Given the description of an element on the screen output the (x, y) to click on. 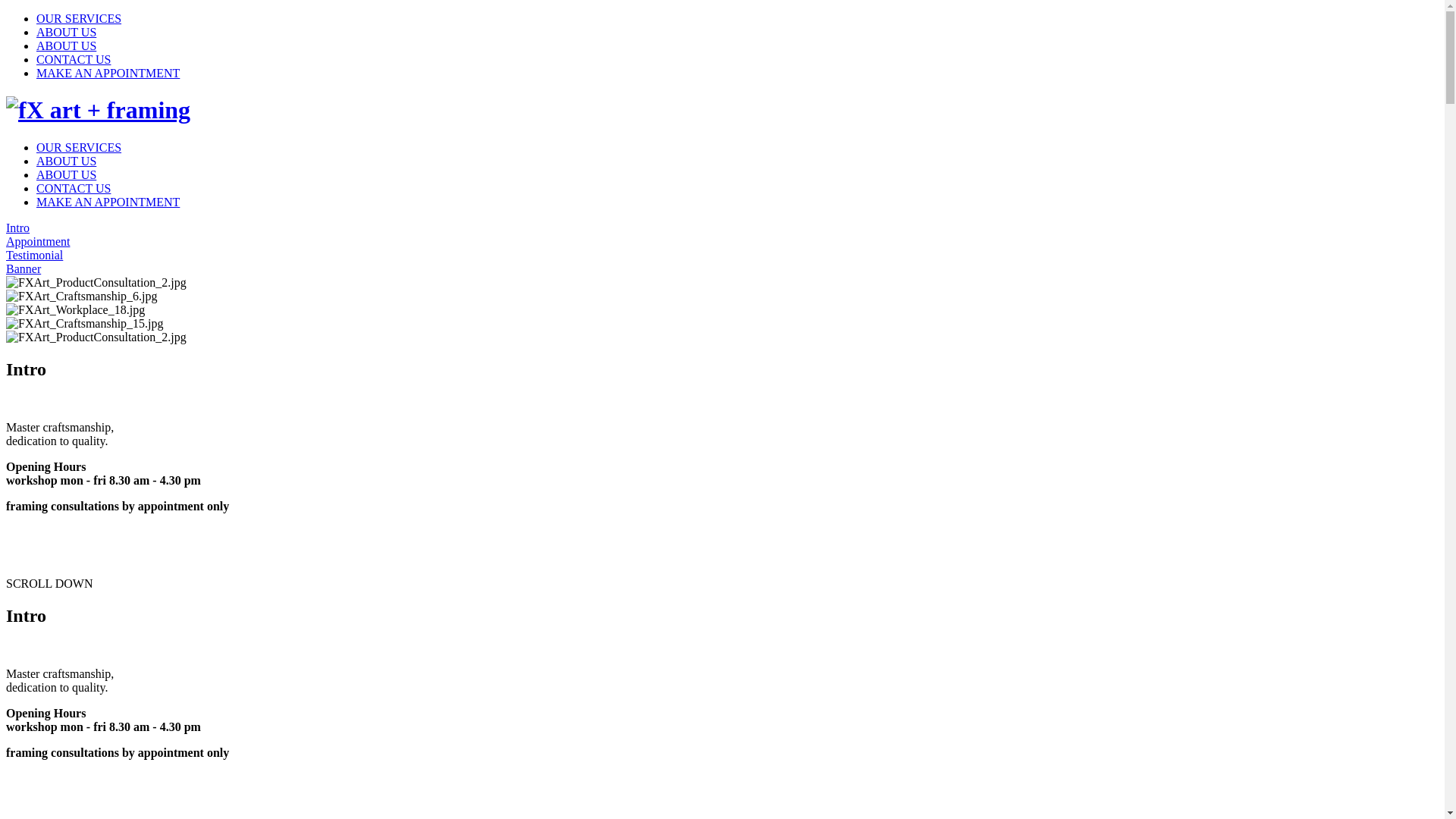
MAKE AN APPOINTMENT Element type: text (107, 72)
Testimonial Element type: text (722, 255)
ABOUT US Element type: text (66, 31)
Banner Element type: text (722, 269)
OUR SERVICES Element type: text (78, 18)
Appointment Element type: text (722, 241)
MAKE AN APPOINTMENT Element type: text (107, 201)
OUR SERVICES Element type: text (78, 147)
Intro Element type: text (722, 228)
CONTACT US Element type: text (73, 59)
ABOUT US Element type: text (66, 160)
ABOUT US Element type: text (66, 174)
ABOUT US Element type: text (66, 45)
CONTACT US Element type: text (73, 188)
